Given the description of an element on the screen output the (x, y) to click on. 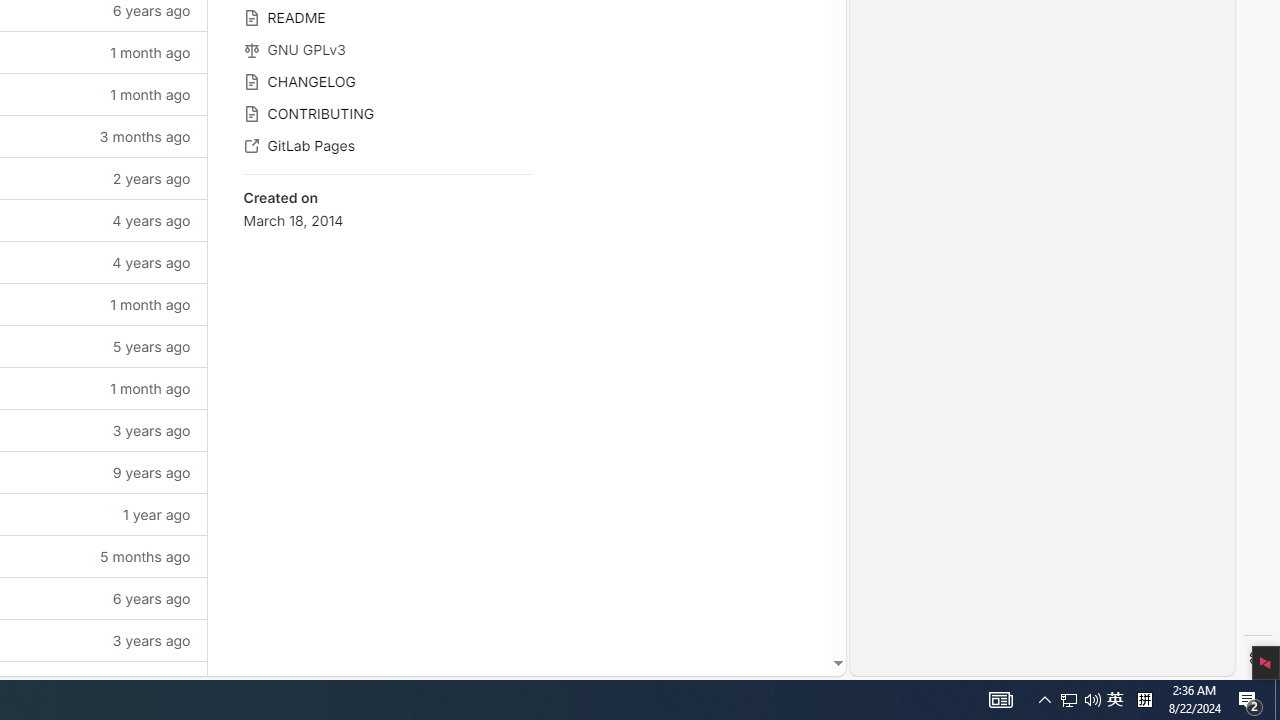
GitLab Pages (387, 144)
Class: s16 icon gl-mr-3 gl-text-gray-500 (251, 146)
CONTRIBUTING (387, 111)
CHANGELOG (387, 80)
GitLab Pages (387, 144)
README (387, 16)
CHANGELOG (387, 80)
GNU GPLv3 (387, 48)
README (387, 16)
GNU GPLv3 (387, 48)
CONTRIBUTING (387, 111)
